Given the description of an element on the screen output the (x, y) to click on. 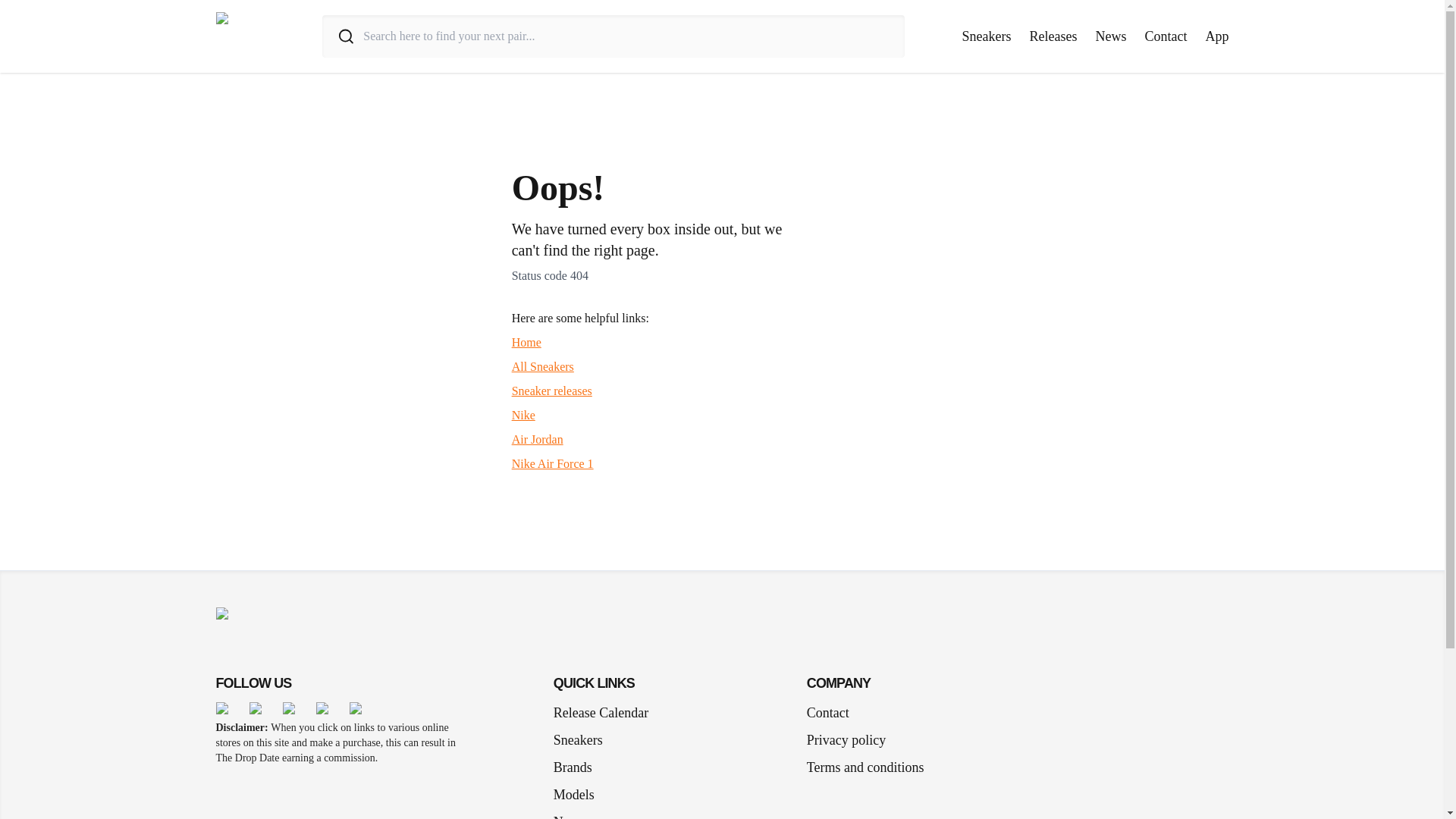
Privacy policy (845, 740)
Nike Air Force 1 (553, 463)
Air Jordan (537, 439)
Contact (1166, 36)
Brands (578, 767)
News (1109, 36)
Home (526, 341)
Sneakers (986, 36)
Contact (827, 712)
Sneakers (583, 740)
